Given the description of an element on the screen output the (x, y) to click on. 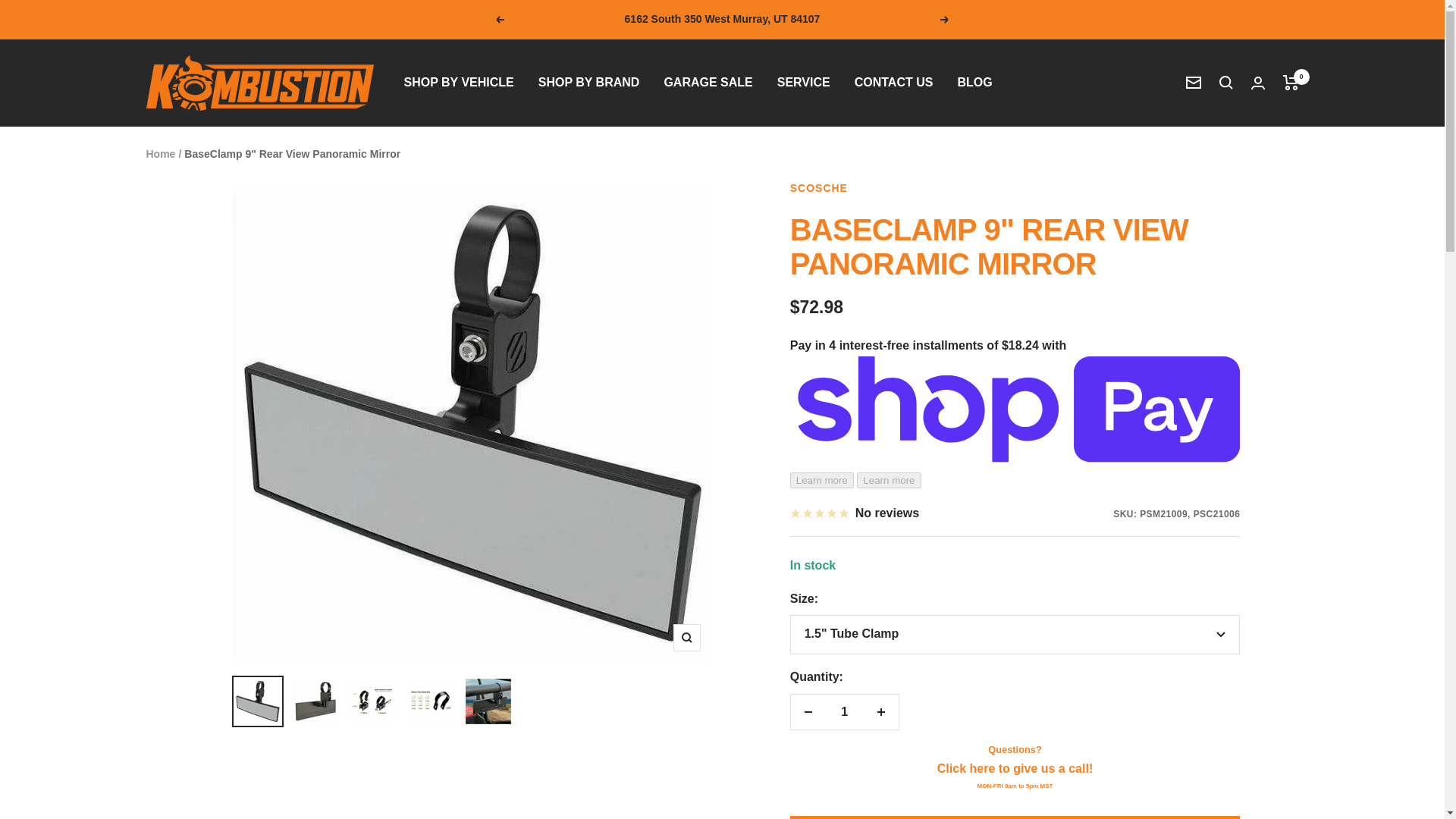
Previous (499, 19)
SCOSCHE (818, 187)
Zoom (686, 637)
Kombustion Motorsports (258, 82)
BLOG (973, 82)
GARAGE SALE (707, 82)
CONTACT US (893, 82)
1 (844, 711)
Newsletter (1193, 82)
SHOP BY BRAND (589, 82)
